Given the description of an element on the screen output the (x, y) to click on. 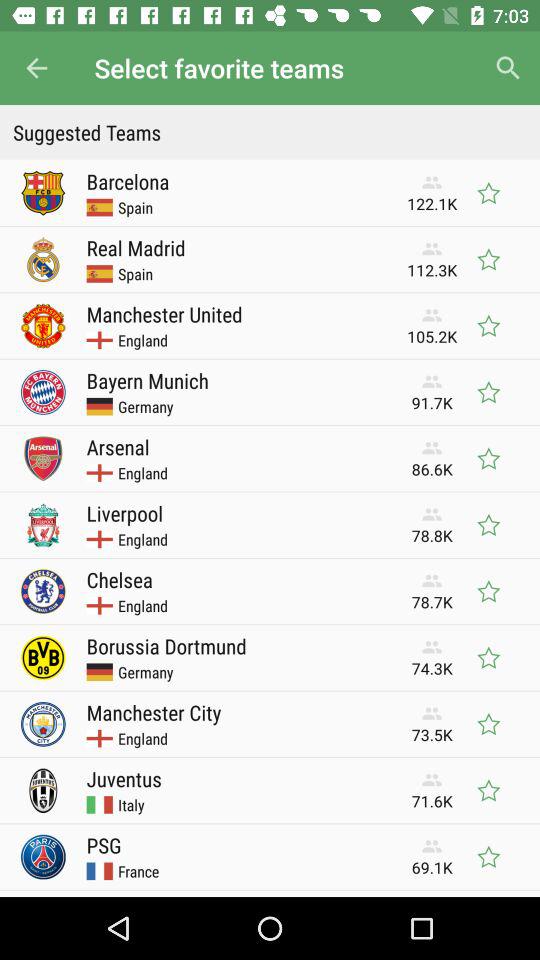
scroll until psg item (103, 845)
